Given the description of an element on the screen output the (x, y) to click on. 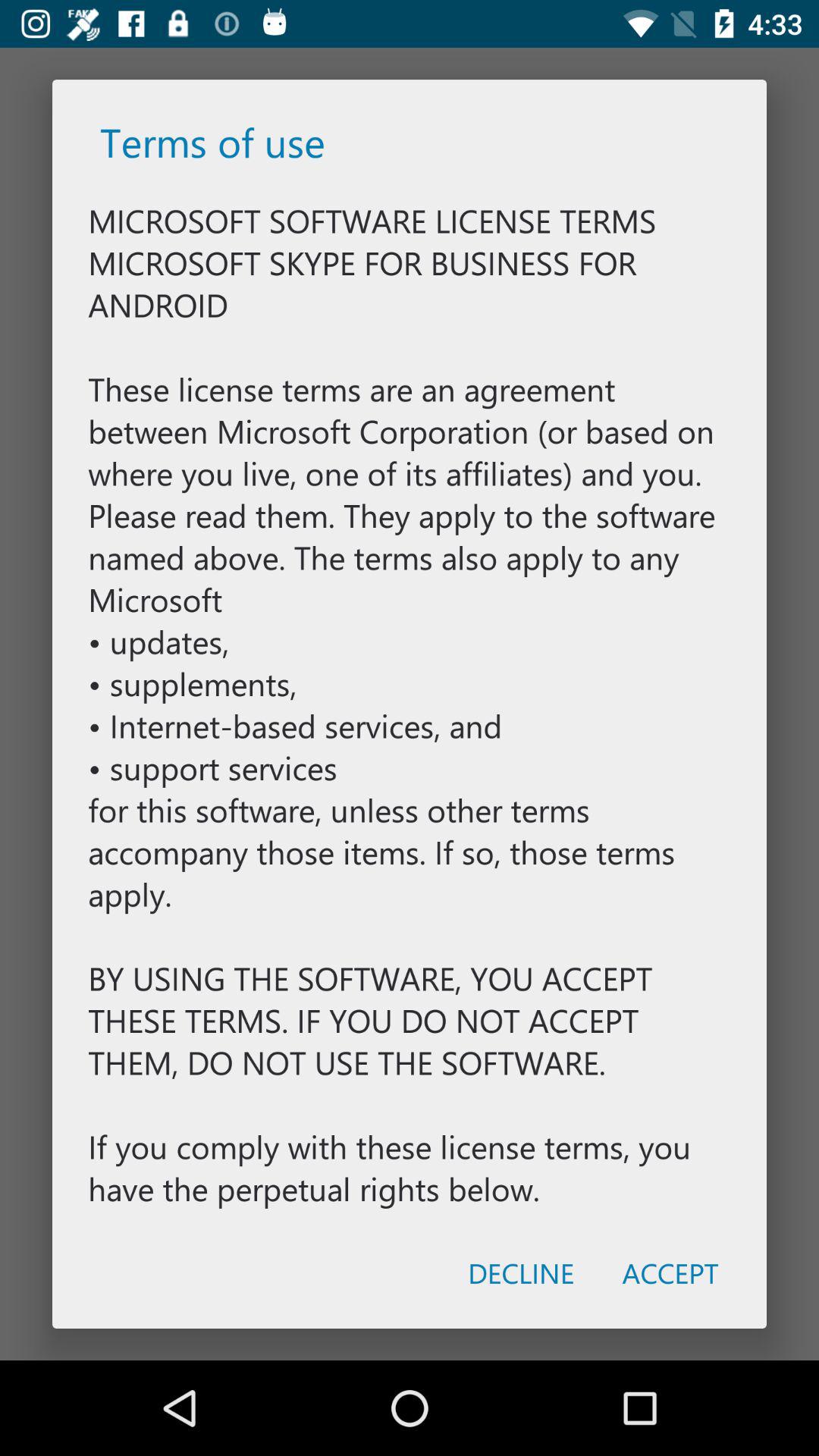
open the accept item (670, 1272)
